Given the description of an element on the screen output the (x, y) to click on. 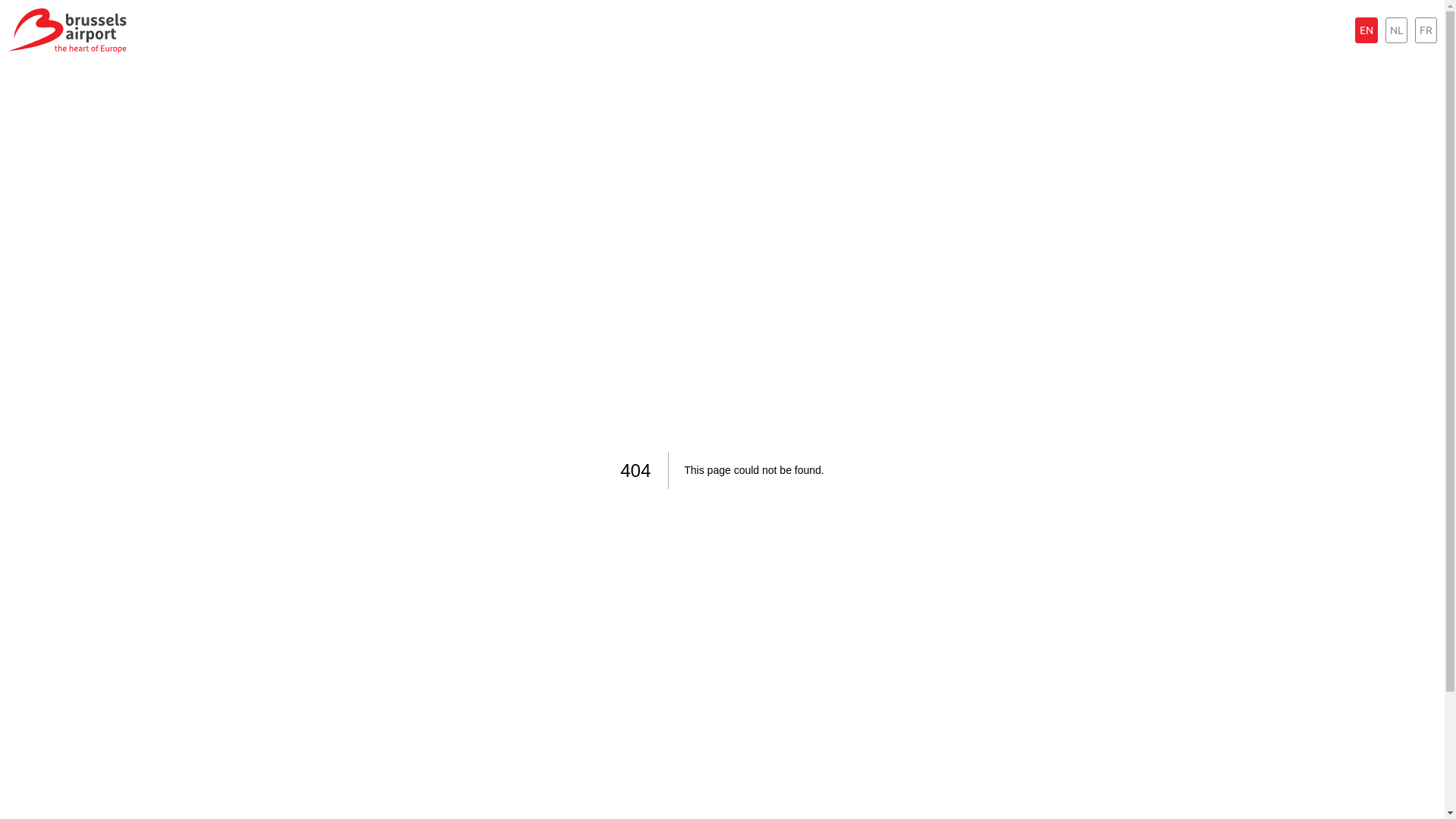
FR Element type: text (1426, 30)
NL Element type: text (1396, 30)
Brussels Airport the heart of Europe Element type: text (67, 30)
EN Element type: text (1366, 30)
